Given the description of an element on the screen output the (x, y) to click on. 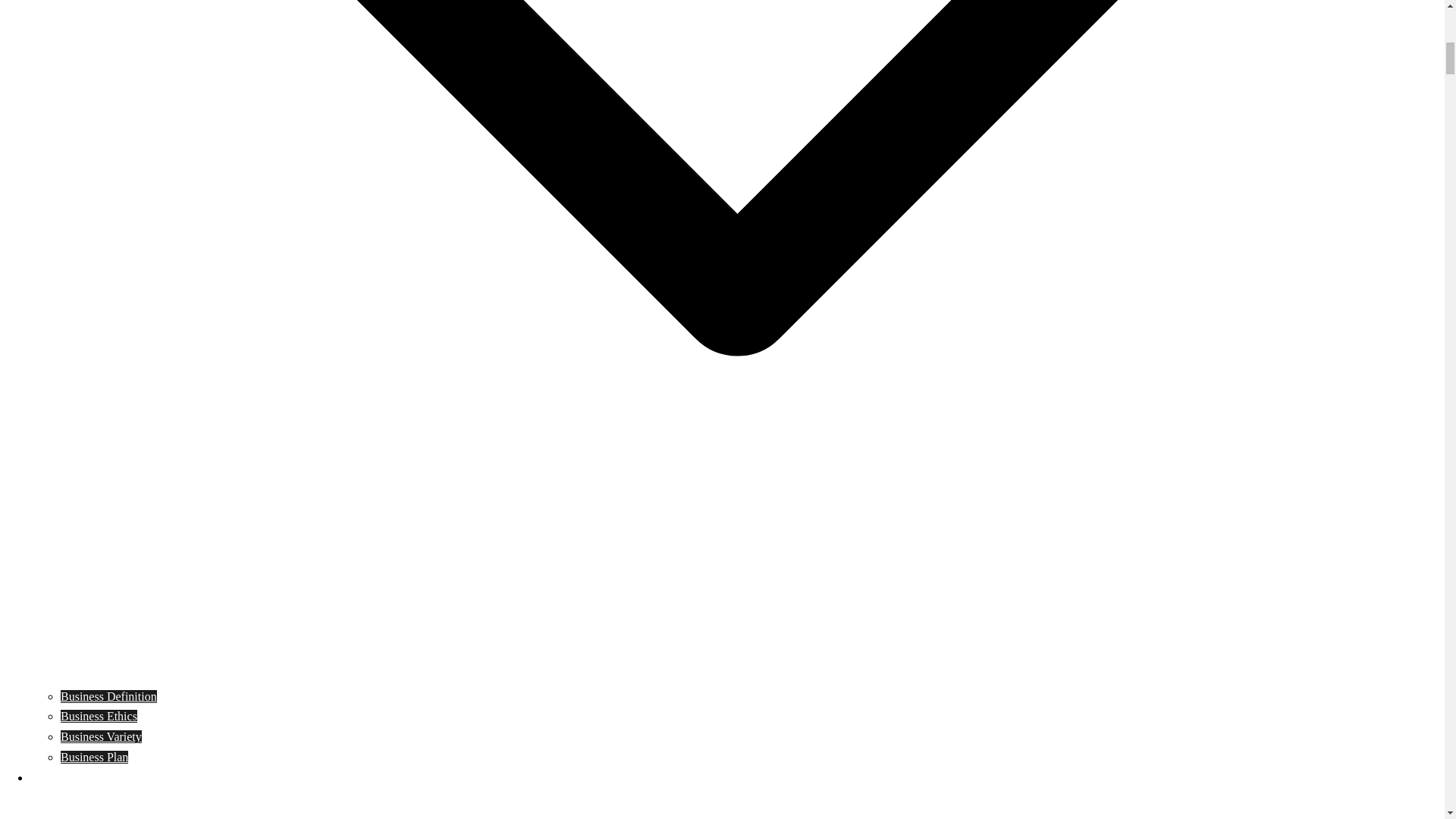
Business Plan (94, 757)
Business Variety (101, 736)
Business Ethics (98, 716)
Advanced (55, 777)
Business Definition (109, 696)
